Given the description of an element on the screen output the (x, y) to click on. 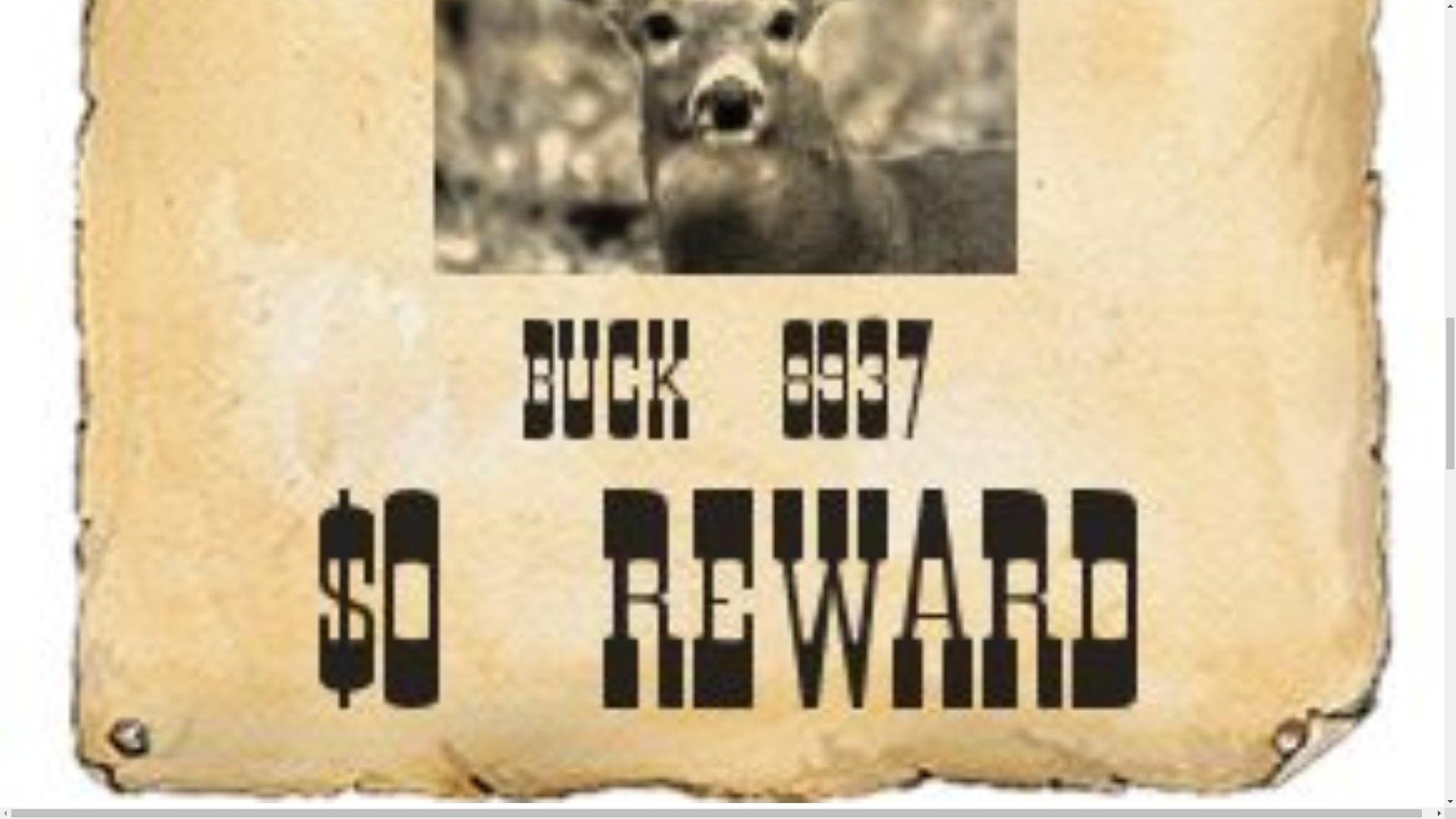
The Deer-Forest Blog (86, 812)
Home (14, 812)
WANTED (167, 812)
